Given the description of an element on the screen output the (x, y) to click on. 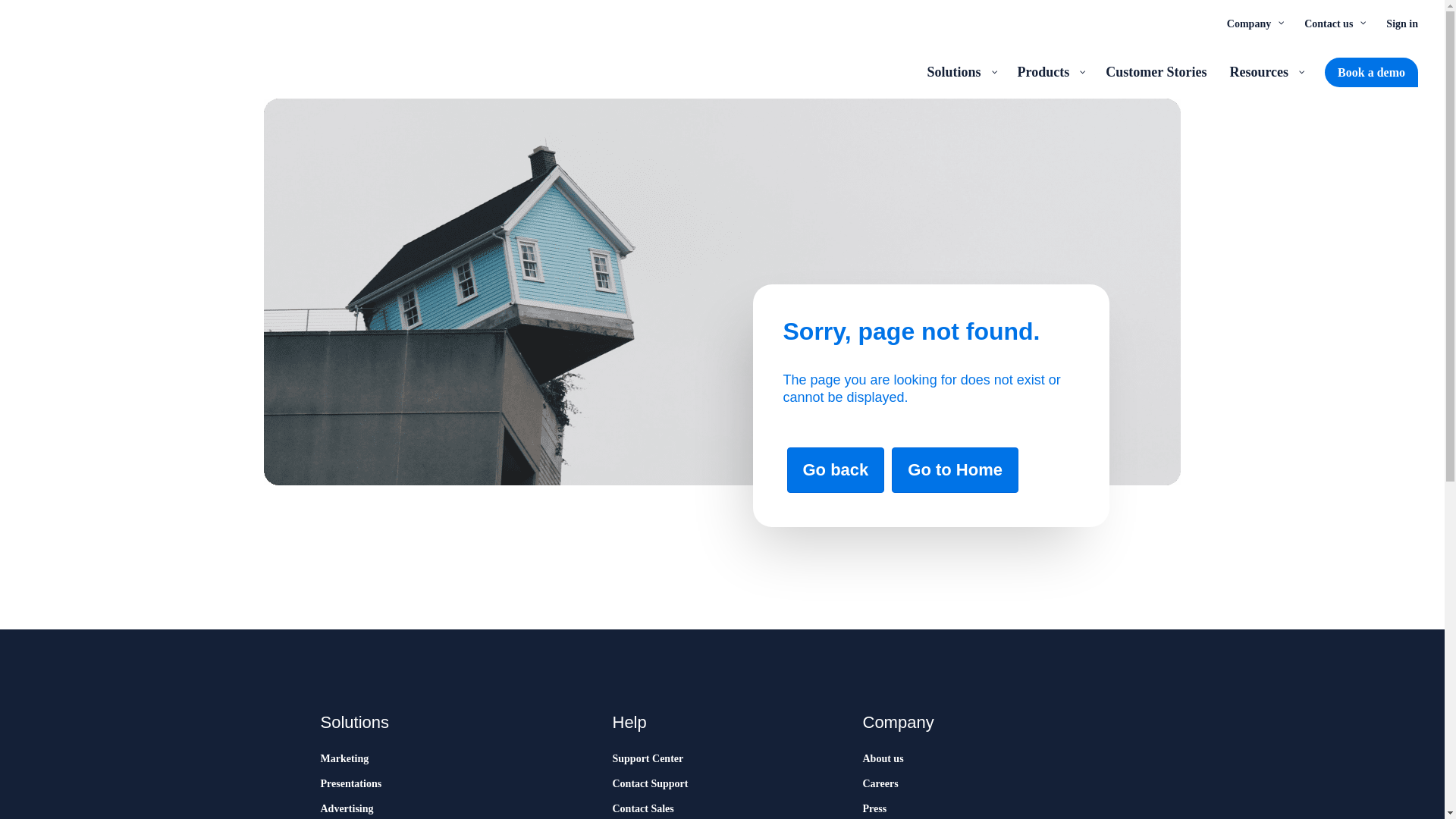
Company (1253, 22)
Sign in (1401, 22)
Contact us (1333, 22)
Products (1050, 72)
Solutions (960, 72)
